Given the description of an element on the screen output the (x, y) to click on. 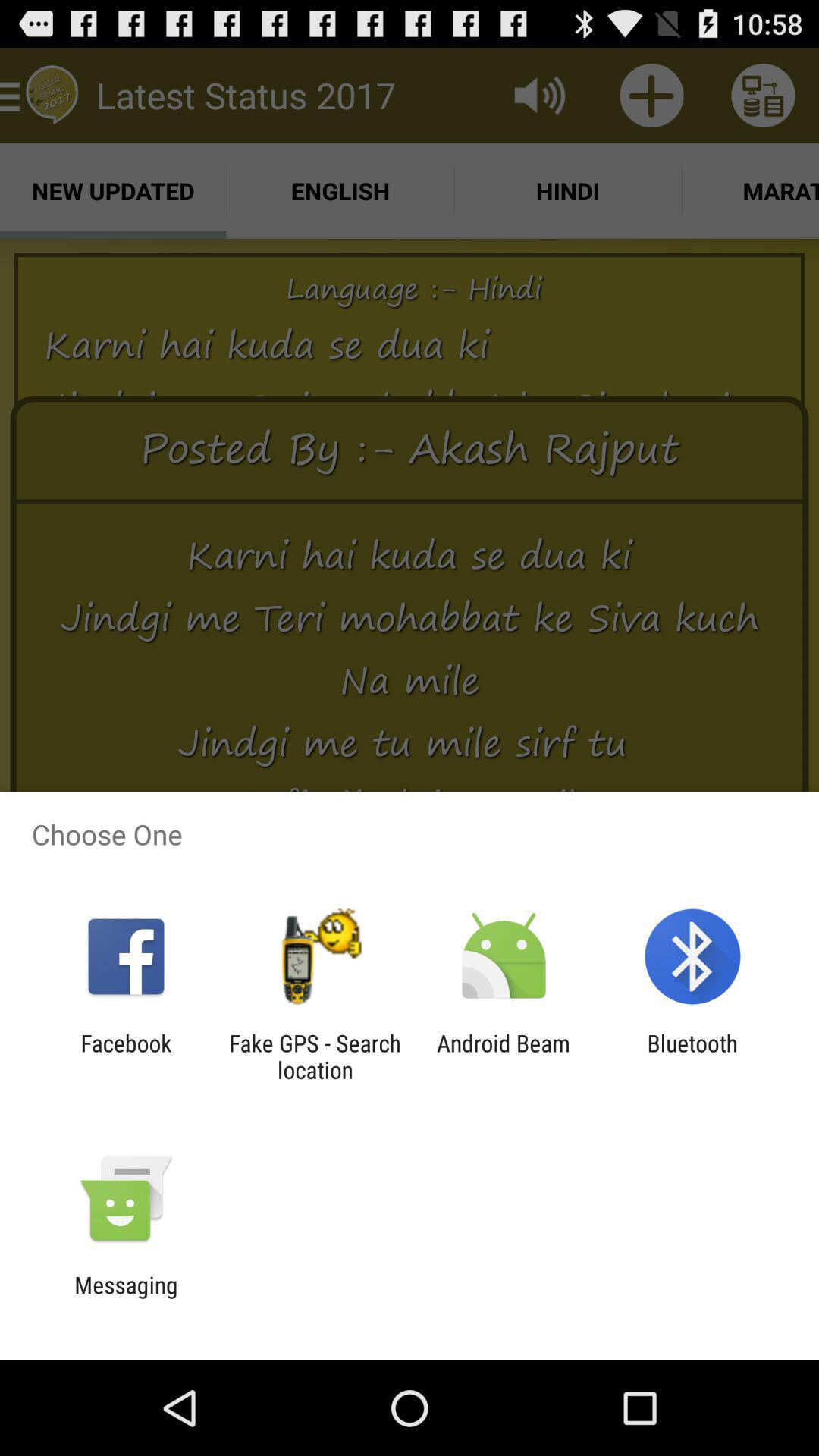
turn off app to the left of android beam (314, 1056)
